Given the description of an element on the screen output the (x, y) to click on. 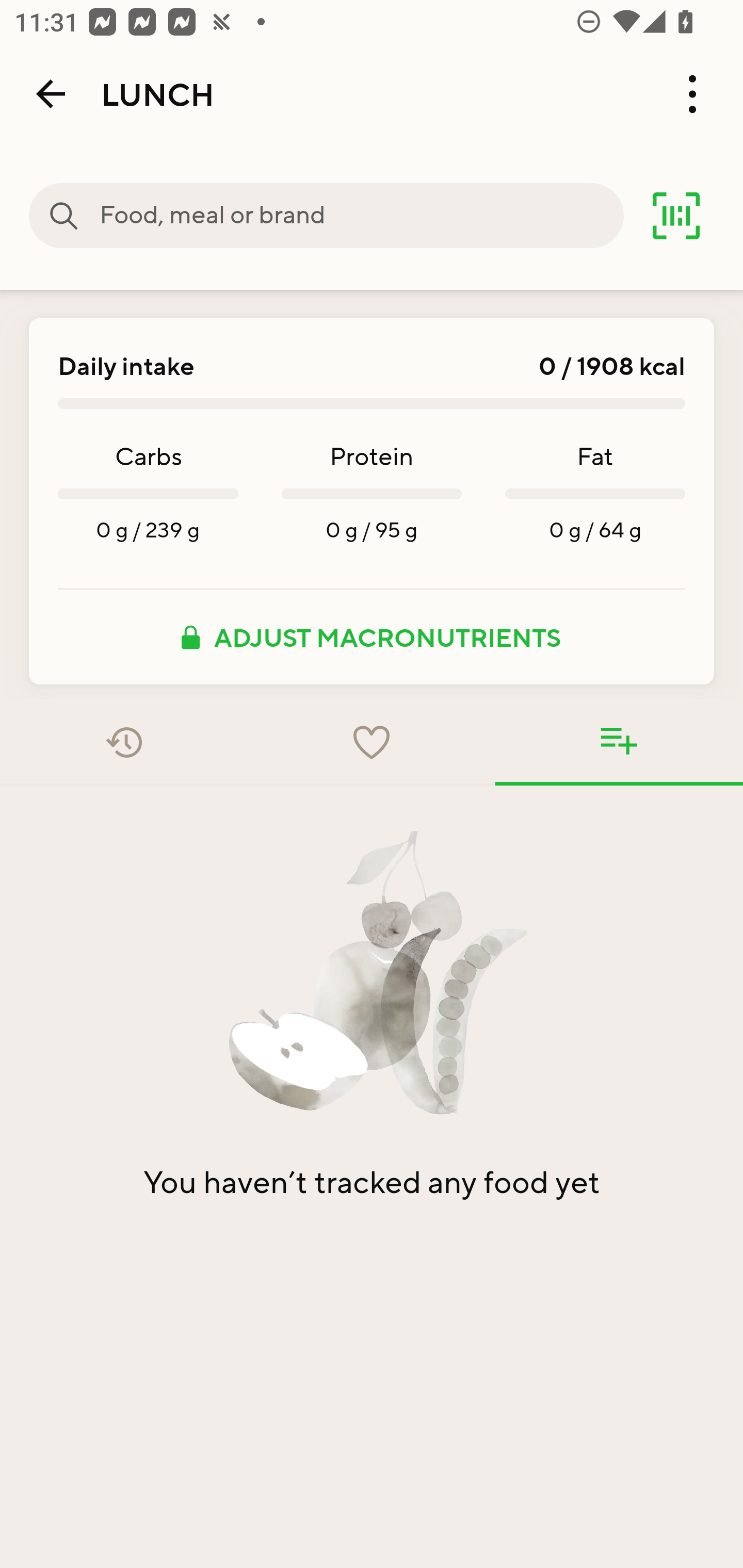
Back (50, 93)
Food, meal or brand (63, 215)
Food, meal or brand (361, 215)
ADJUST MACRONUTRIENTS (371, 637)
Recent (123, 742)
Favorites (371, 742)
